Given the description of an element on the screen output the (x, y) to click on. 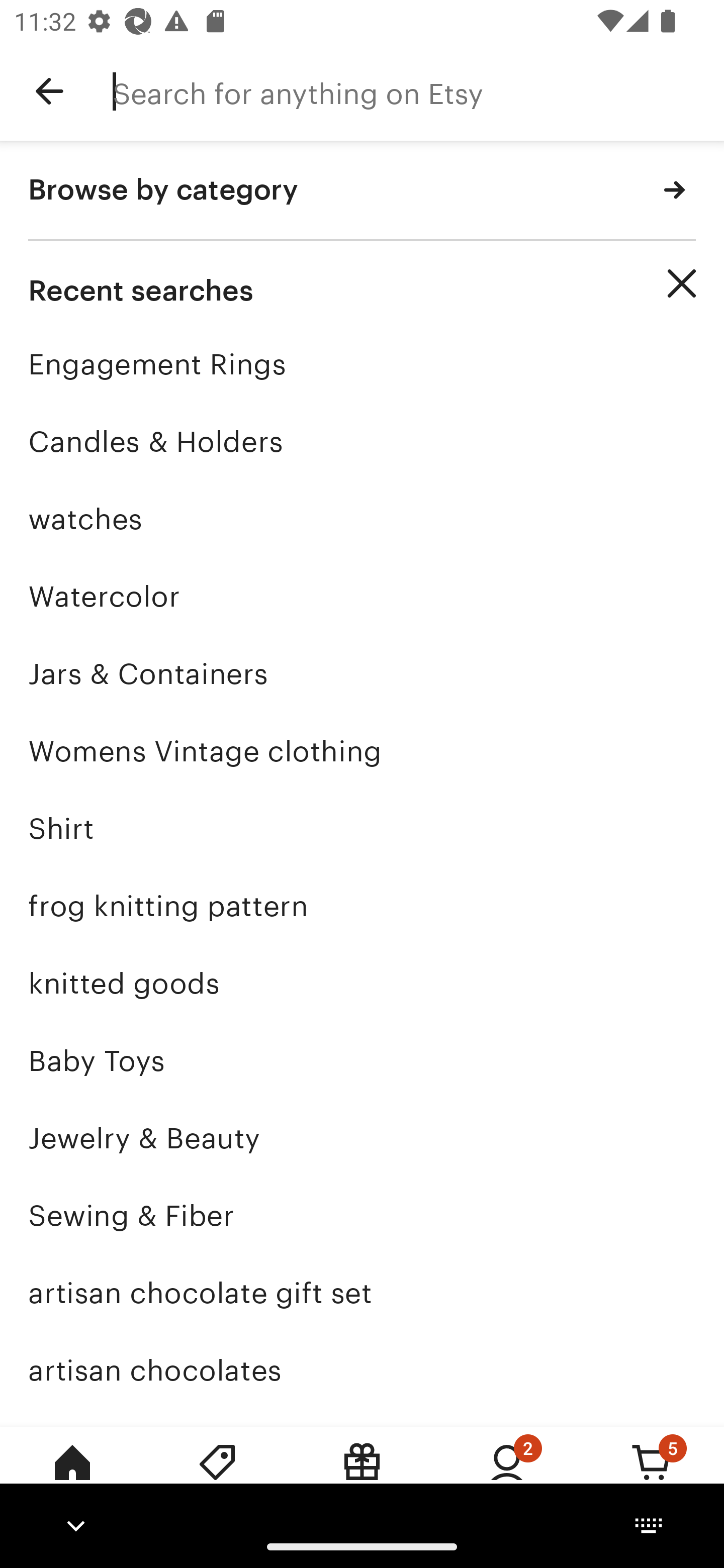
Navigate up (49, 91)
Search for anything on Etsy (418, 91)
Browse by category (362, 191)
Clear (681, 283)
Engagement Rings (362, 364)
Candles & Holders (362, 440)
watches (362, 518)
Watercolor (362, 596)
Jars & Containers (362, 673)
Womens Vintage clothing (362, 750)
Shirt (362, 828)
frog knitting pattern (362, 906)
knitted goods (362, 983)
Baby Toys (362, 1060)
Jewelry & Beauty (362, 1138)
Sewing & Fiber (362, 1215)
artisan chocolate gift set (362, 1292)
artisan chocolates (362, 1370)
Deals (216, 1475)
Gift Mode (361, 1475)
You, 2 new notifications (506, 1475)
Cart, 5 new notifications (651, 1475)
